Given the description of an element on the screen output the (x, y) to click on. 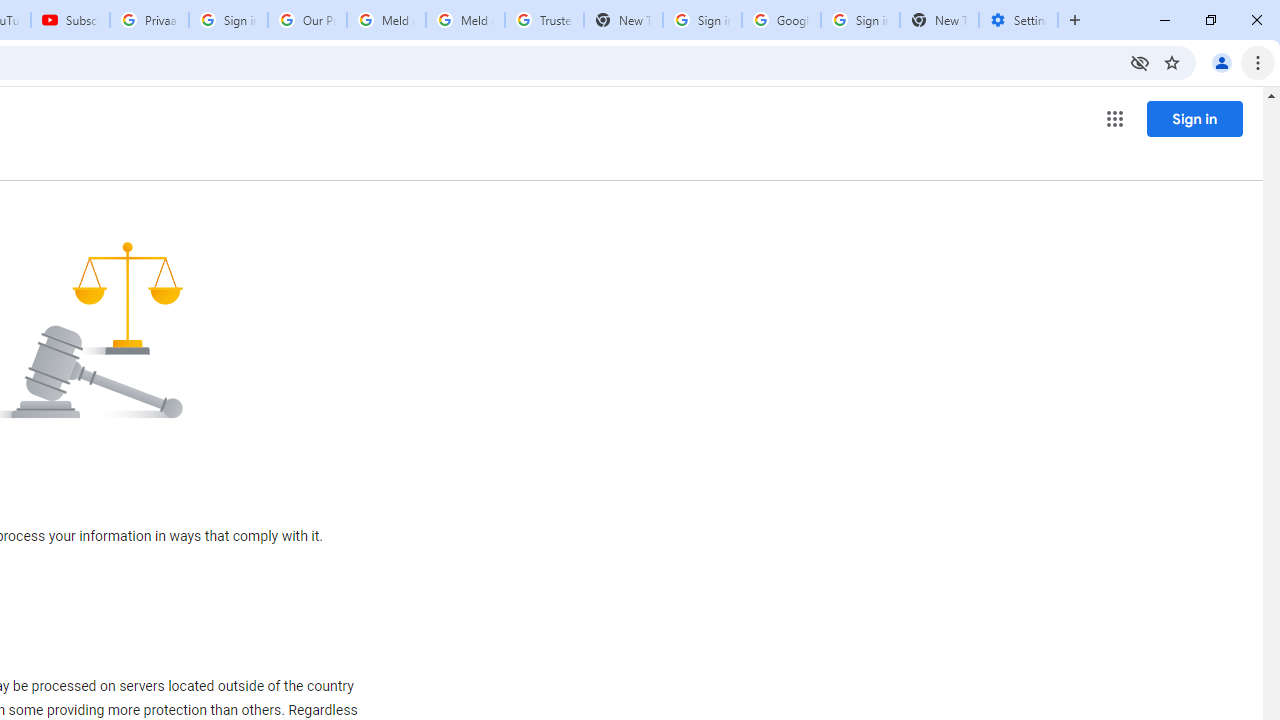
Sign in - Google Accounts (859, 20)
Trusted Information and Content - Google Safety Center (544, 20)
Google Cybersecurity Innovations - Google Safety Center (781, 20)
Settings - Addresses and more (1018, 20)
Sign in - Google Accounts (702, 20)
